Given the description of an element on the screen output the (x, y) to click on. 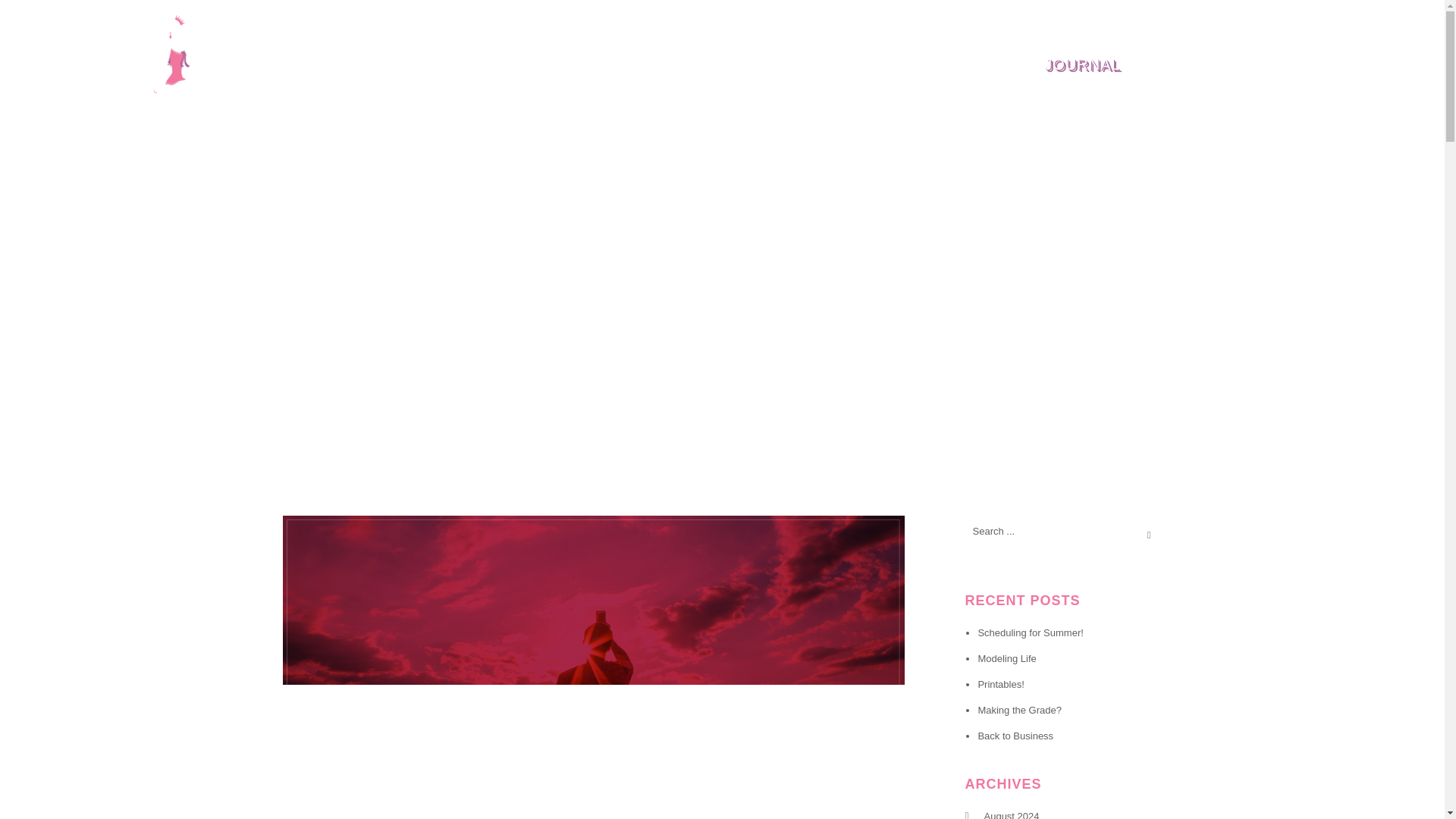
HOME (864, 64)
ABOUT ME (1192, 64)
PORTFOLIO (966, 64)
Contact (1368, 64)
Portfolio (966, 64)
JOURNAL (1082, 64)
Home (864, 64)
FAQ (1282, 64)
About Me (1192, 64)
Journal (1082, 64)
